Given the description of an element on the screen output the (x, y) to click on. 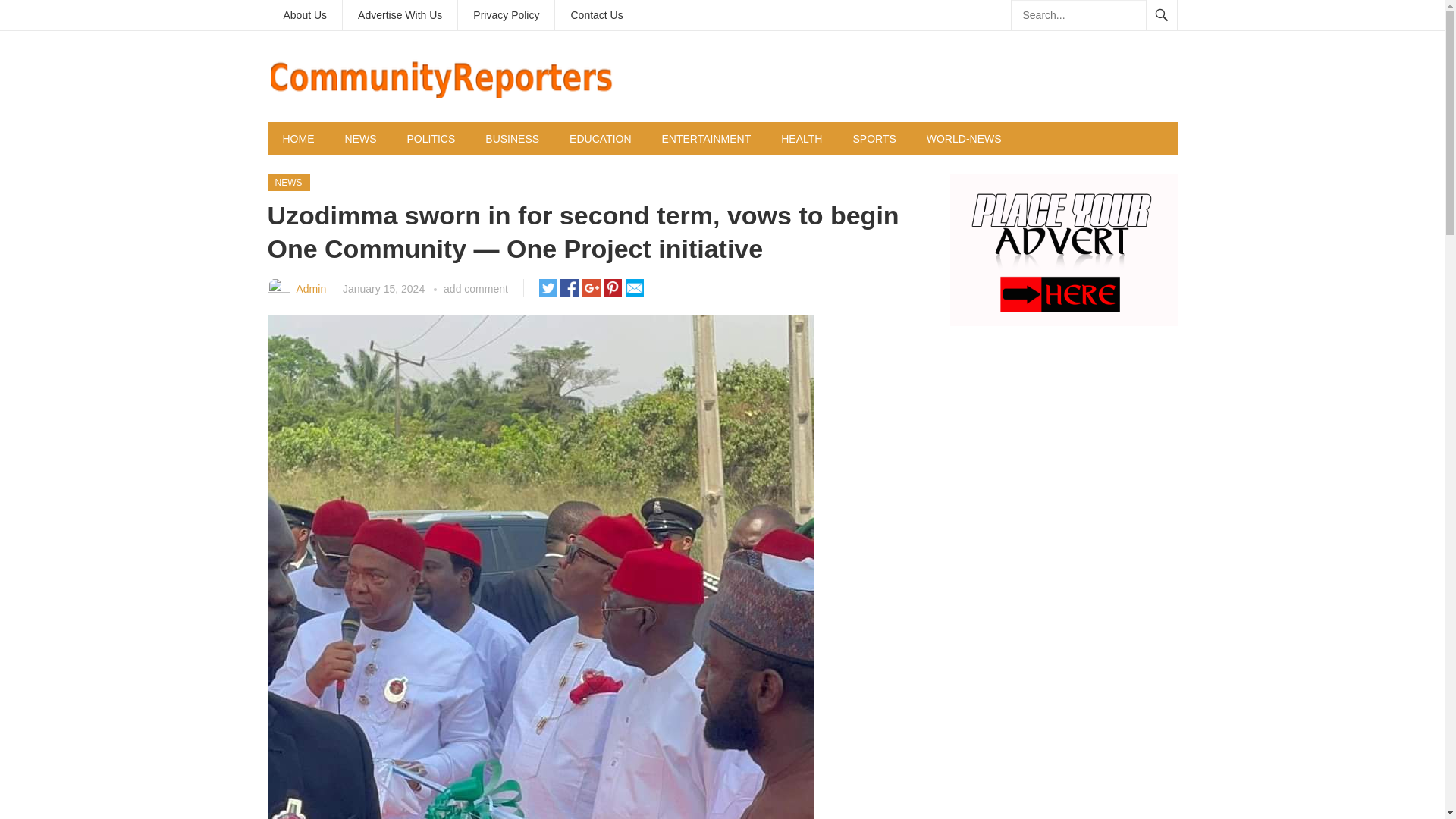
add comment (476, 288)
BUSINESS (512, 138)
Admin (310, 288)
HOME (297, 138)
SPORTS (874, 138)
Privacy Policy (506, 15)
Advertise With Us (399, 15)
NEWS (287, 182)
POLITICS (430, 138)
View all posts in News (287, 182)
About Us (304, 15)
Contact Us (595, 15)
WORLD-NEWS (963, 138)
NEWS (360, 138)
HEALTH (801, 138)
